Given the description of an element on the screen output the (x, y) to click on. 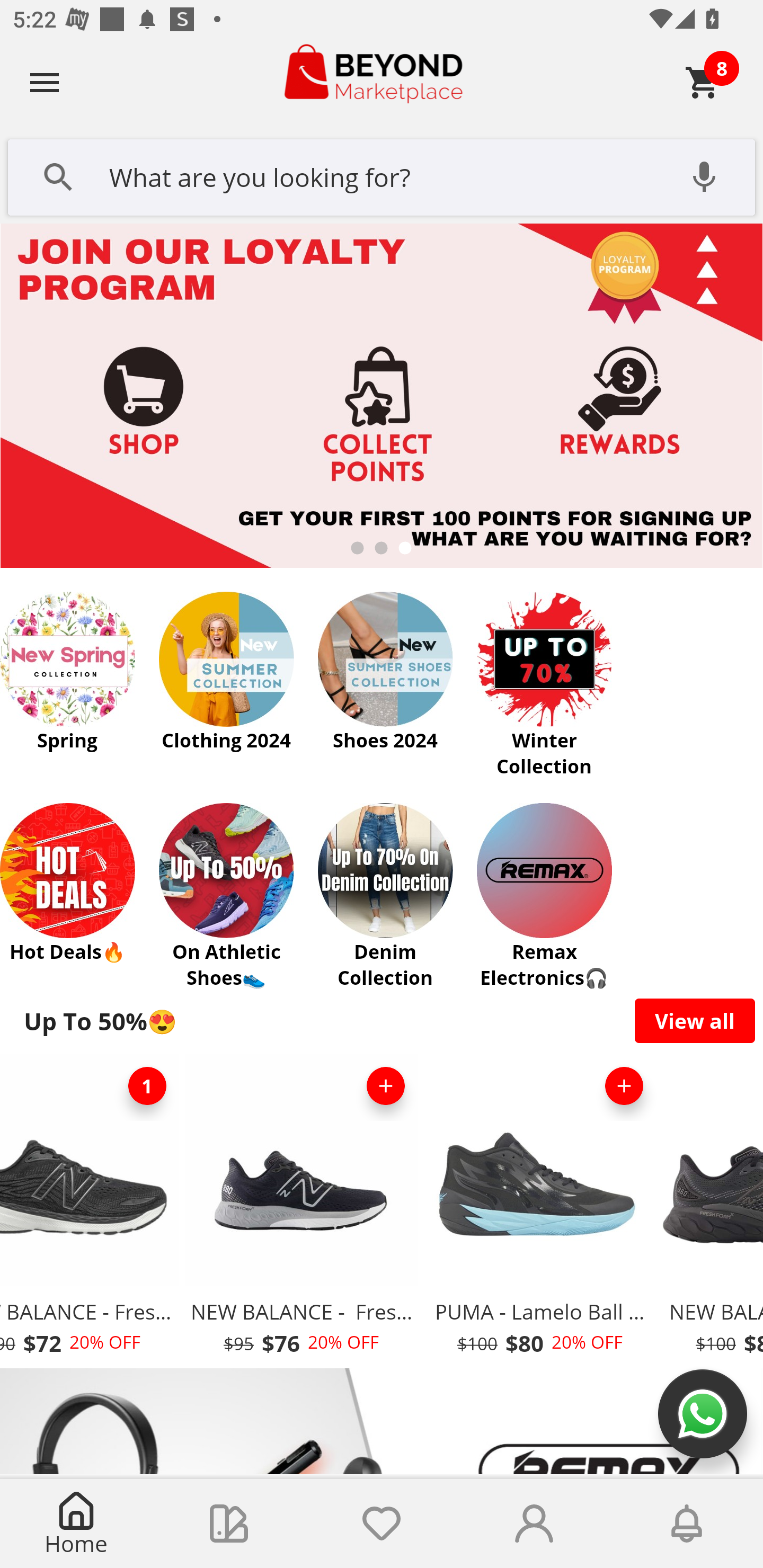
Navigate up (44, 82)
What are you looking for? (381, 175)
View all (694, 1020)
1 (147, 1085)
NEW BALANCE -  Fresh Foam X 880 $95 $76 20% OFF (301, 1209)
PUMA - Lamelo Ball MB.02 Phenom $100 $80 20% OFF (539, 1209)
Collections (228, 1523)
Wishlist (381, 1523)
Account (533, 1523)
Notifications (686, 1523)
